Given the description of an element on the screen output the (x, y) to click on. 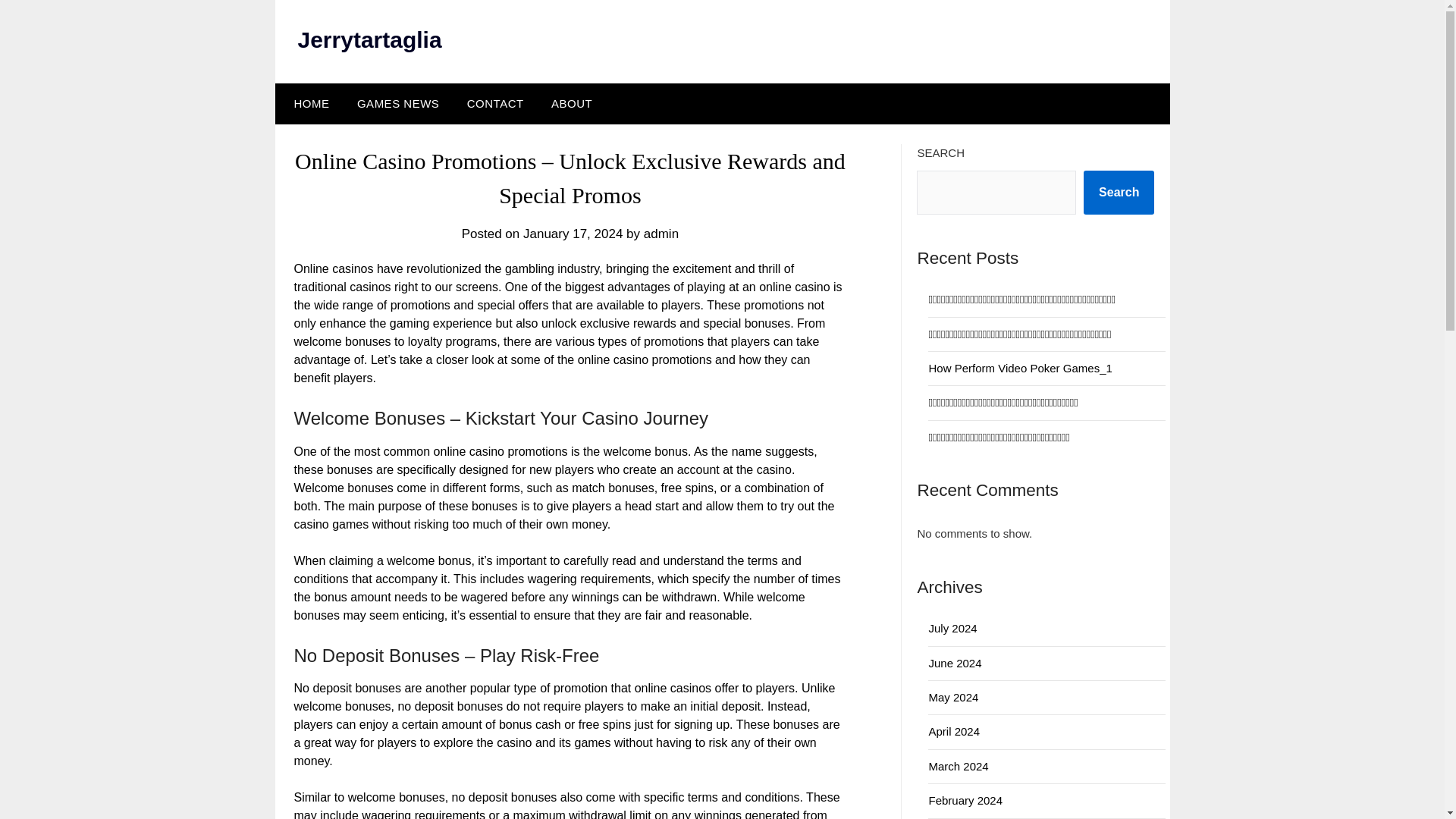
ABOUT (571, 103)
May 2024 (953, 697)
Jerrytartaglia (369, 39)
April 2024 (953, 730)
February 2024 (965, 799)
June 2024 (954, 662)
July 2024 (952, 627)
January 17, 2024 (572, 233)
GAMES NEWS (398, 103)
HOME (307, 103)
admin (660, 233)
Search (1118, 192)
March 2024 (958, 766)
CONTACT (494, 103)
